Given the description of an element on the screen output the (x, y) to click on. 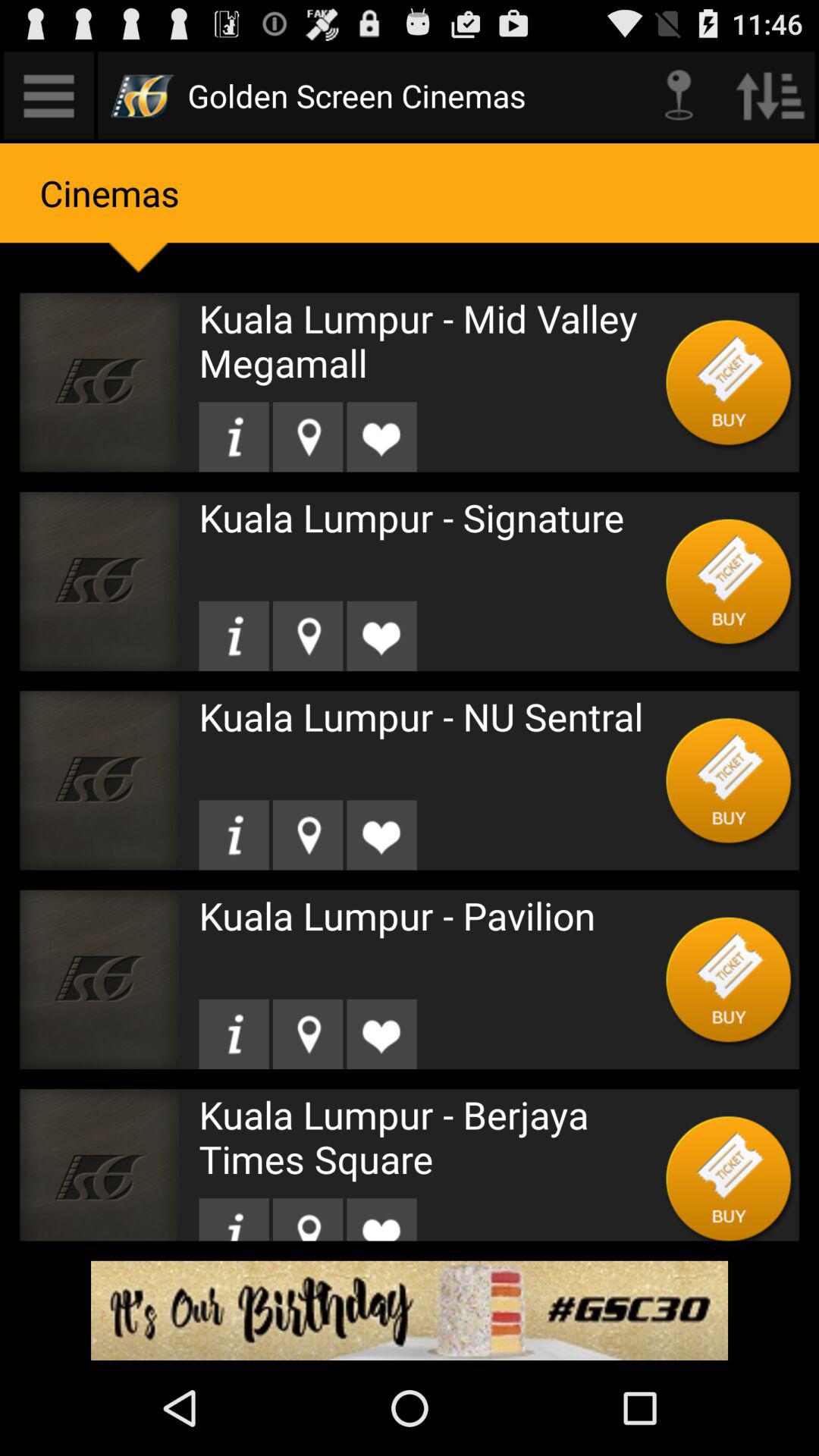
location (307, 835)
